Given the description of an element on the screen output the (x, y) to click on. 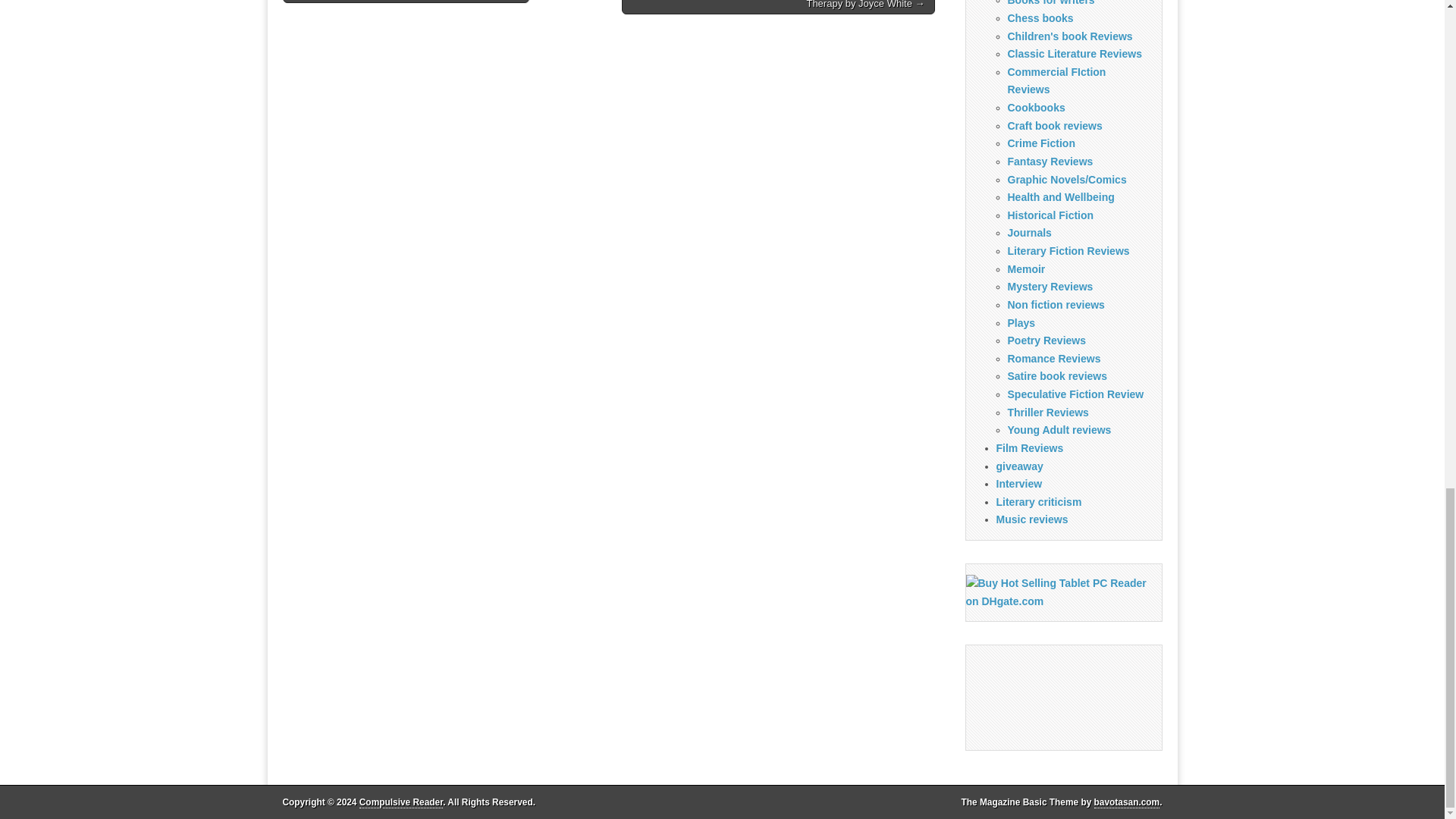
Children's book Reviews (1069, 36)
Chess books (1040, 18)
Books for writers (1050, 2)
Health and Wellbeing (1060, 196)
Classic Literature Reviews (1074, 53)
Journals (1029, 232)
Fantasy Reviews (1050, 161)
Historical Fiction (1050, 215)
Cookbooks (1035, 107)
Commercial FIction Reviews (1056, 81)
Craft book reviews (1054, 125)
Crime Fiction (1040, 143)
